Given the description of an element on the screen output the (x, y) to click on. 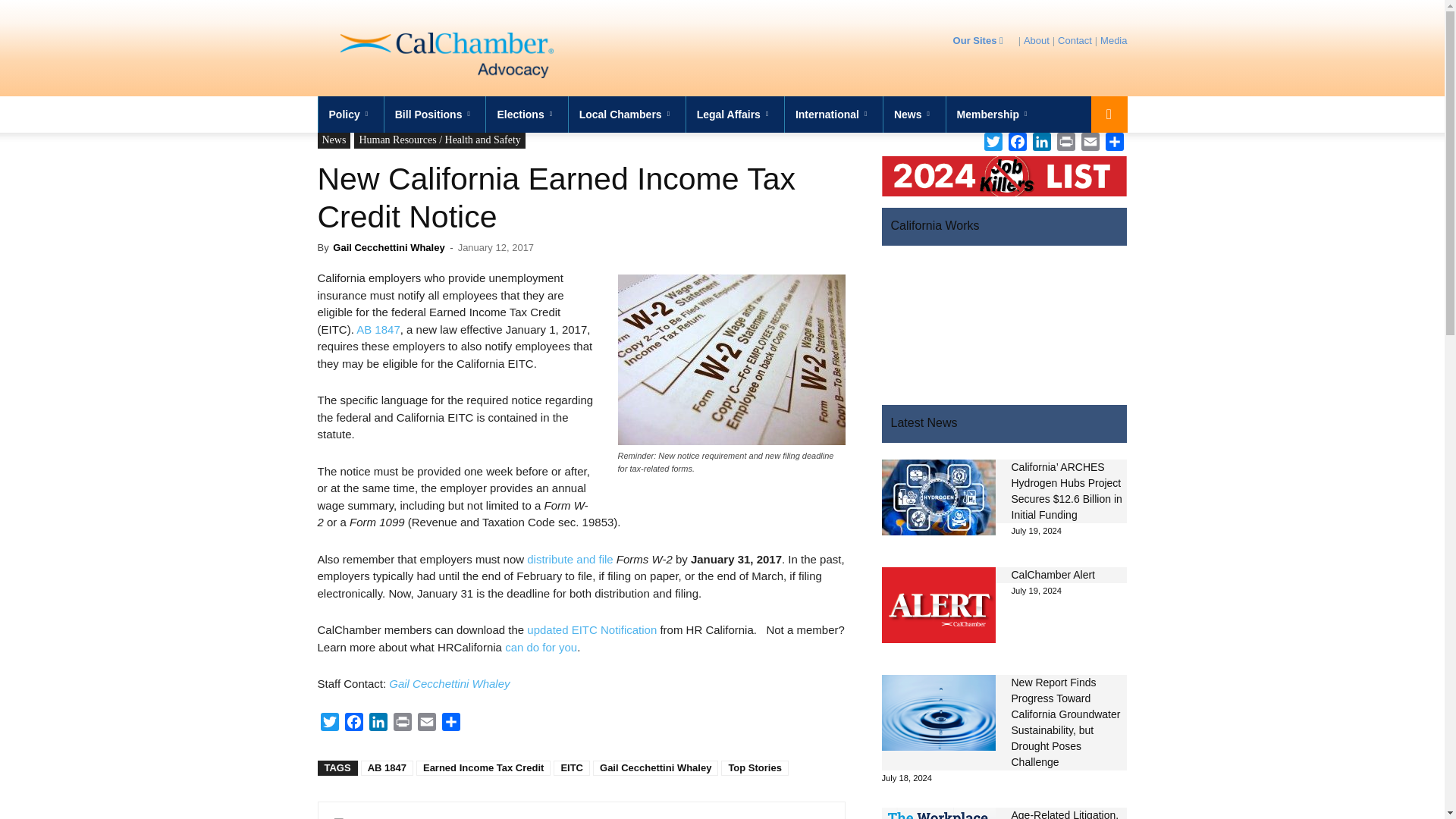
Print (401, 724)
Facebook (352, 724)
LinkedIn (377, 724)
Twitter (328, 724)
Email (425, 724)
